Given the description of an element on the screen output the (x, y) to click on. 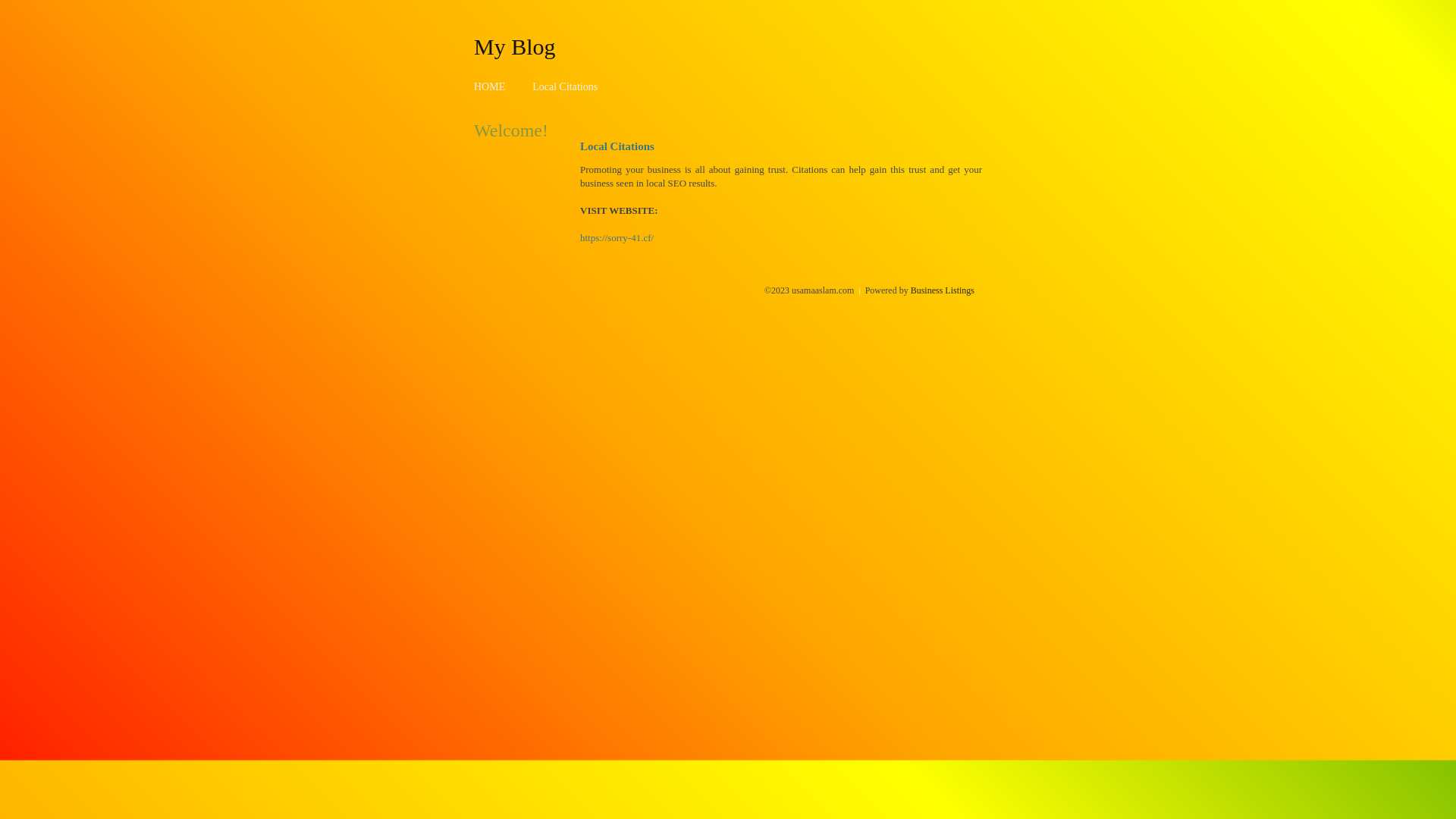
https://sorry-41.cf/ Element type: text (616, 237)
Business Listings Element type: text (942, 290)
Local Citations Element type: text (564, 86)
My Blog Element type: text (514, 46)
HOME Element type: text (489, 86)
